Given the description of an element on the screen output the (x, y) to click on. 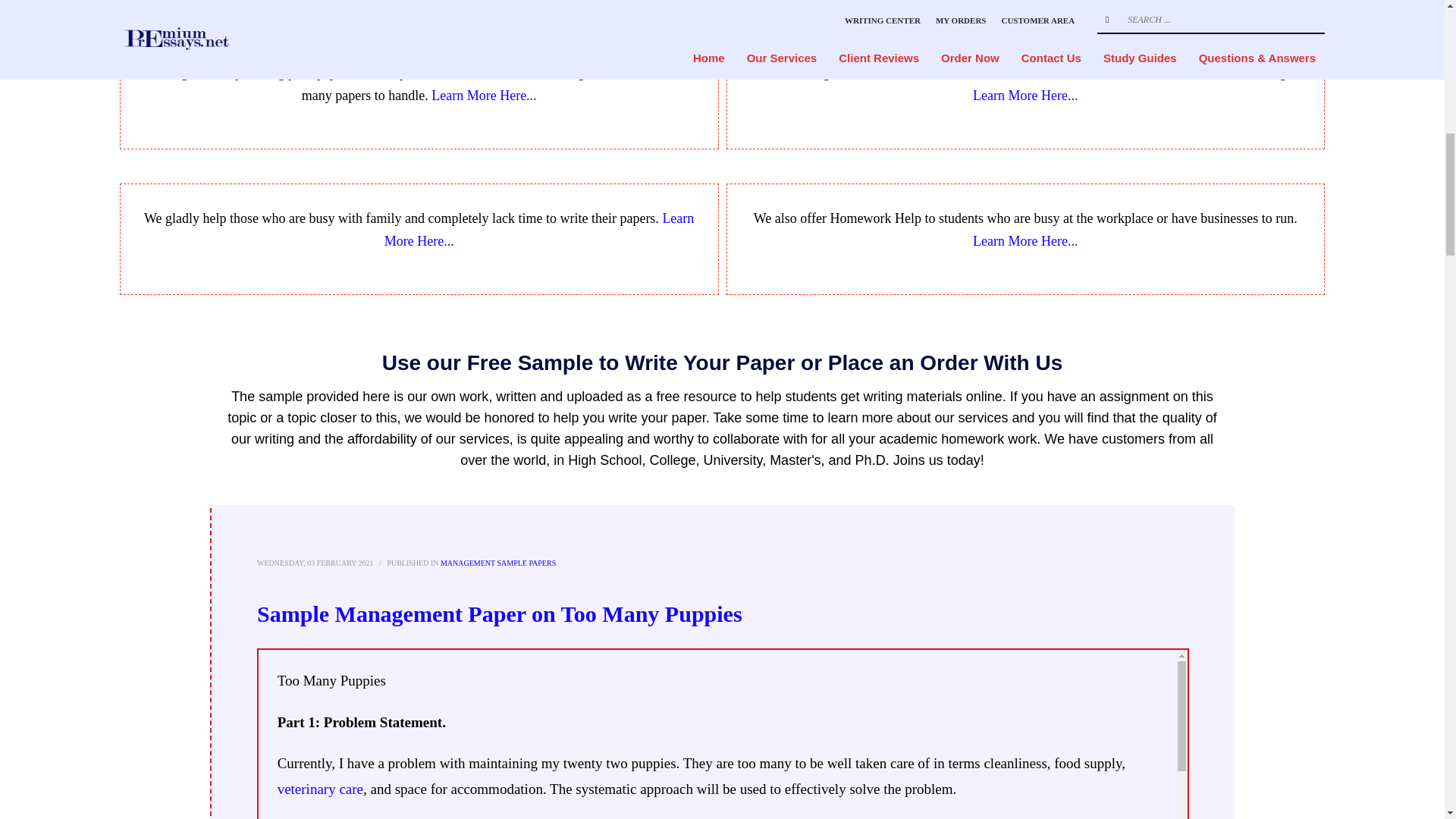
Learn More Here... (482, 95)
Learn More Here... (1024, 95)
Learn More Here... (539, 229)
MANAGEMENT SAMPLE PAPERS (498, 562)
veterinary care (320, 788)
Learn More Here... (1024, 240)
